Given the description of an element on the screen output the (x, y) to click on. 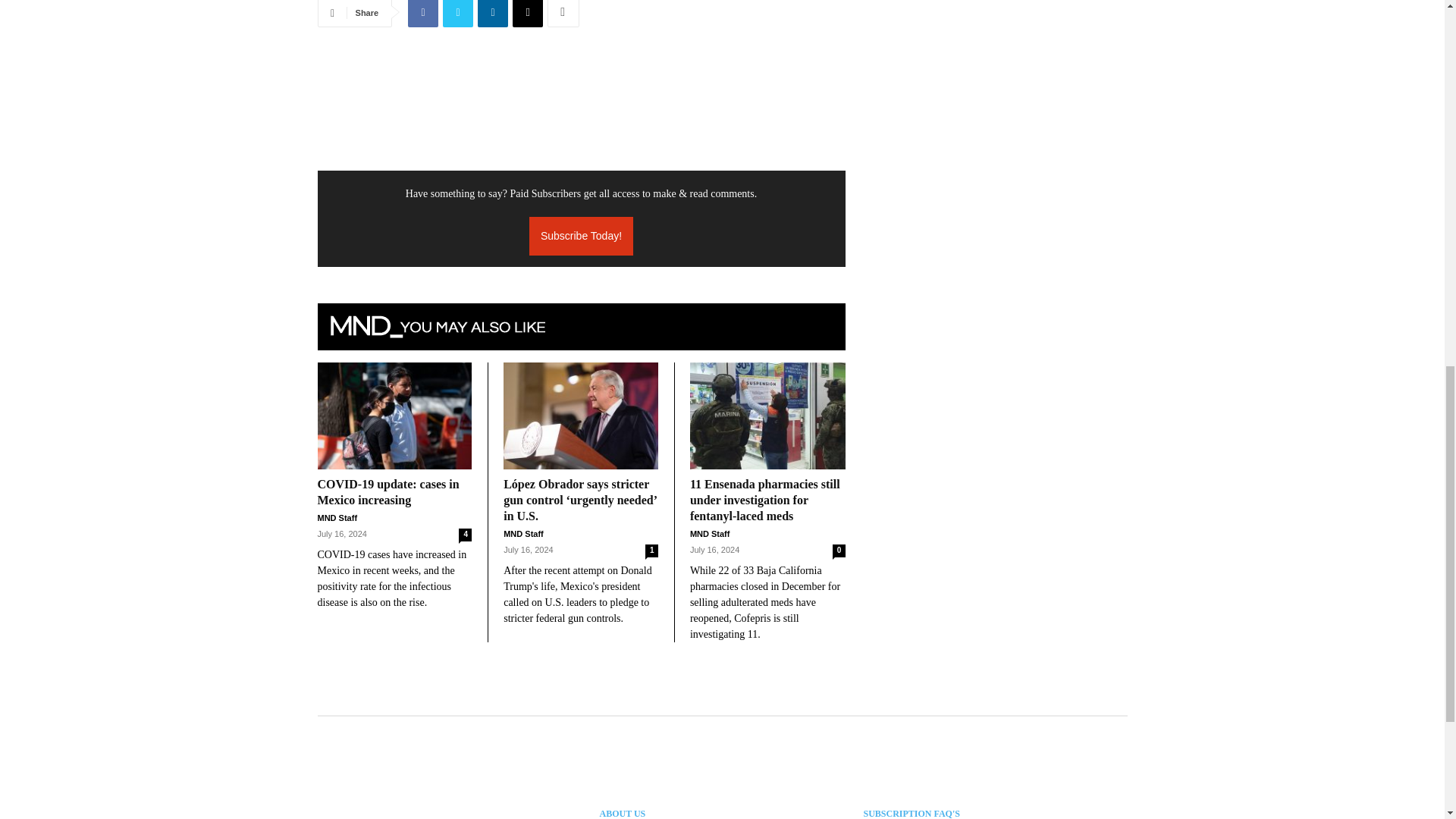
More (563, 13)
Email (527, 13)
Linkedin (492, 13)
Twitter (457, 13)
COVID-19 update: cases in Mexico increasing (394, 415)
Facebook (422, 13)
COVID-19 update: cases in Mexico increasing (387, 491)
